Given the description of an element on the screen output the (x, y) to click on. 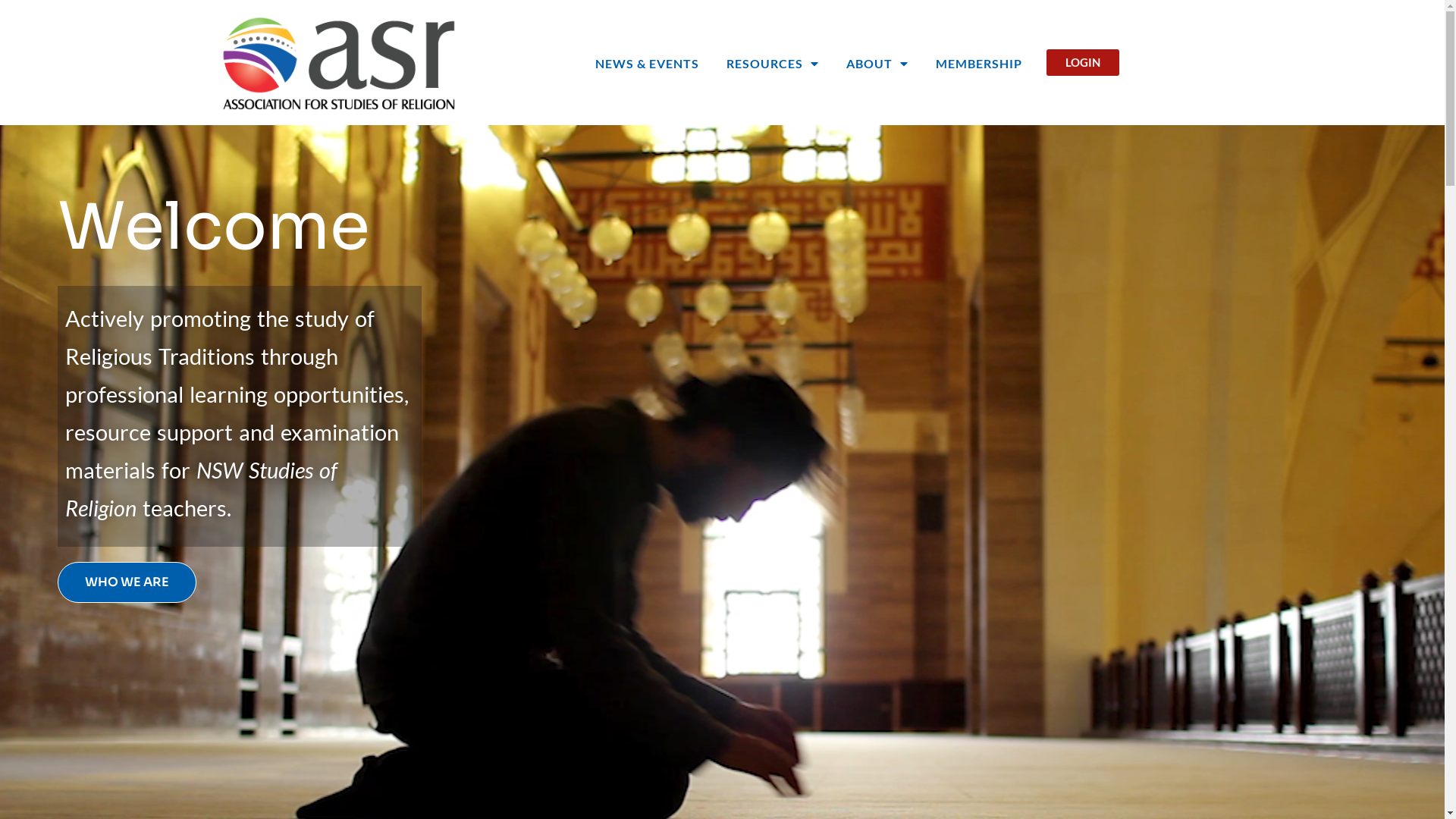
WHO WE ARE Element type: text (126, 581)
NEWS & EVENTS Element type: text (646, 63)
RESOURCES Element type: text (772, 63)
MEMBERSHIP Element type: text (978, 63)
LOGIN Element type: text (1082, 62)
ABOUT Element type: text (877, 63)
